Given the description of an element on the screen output the (x, y) to click on. 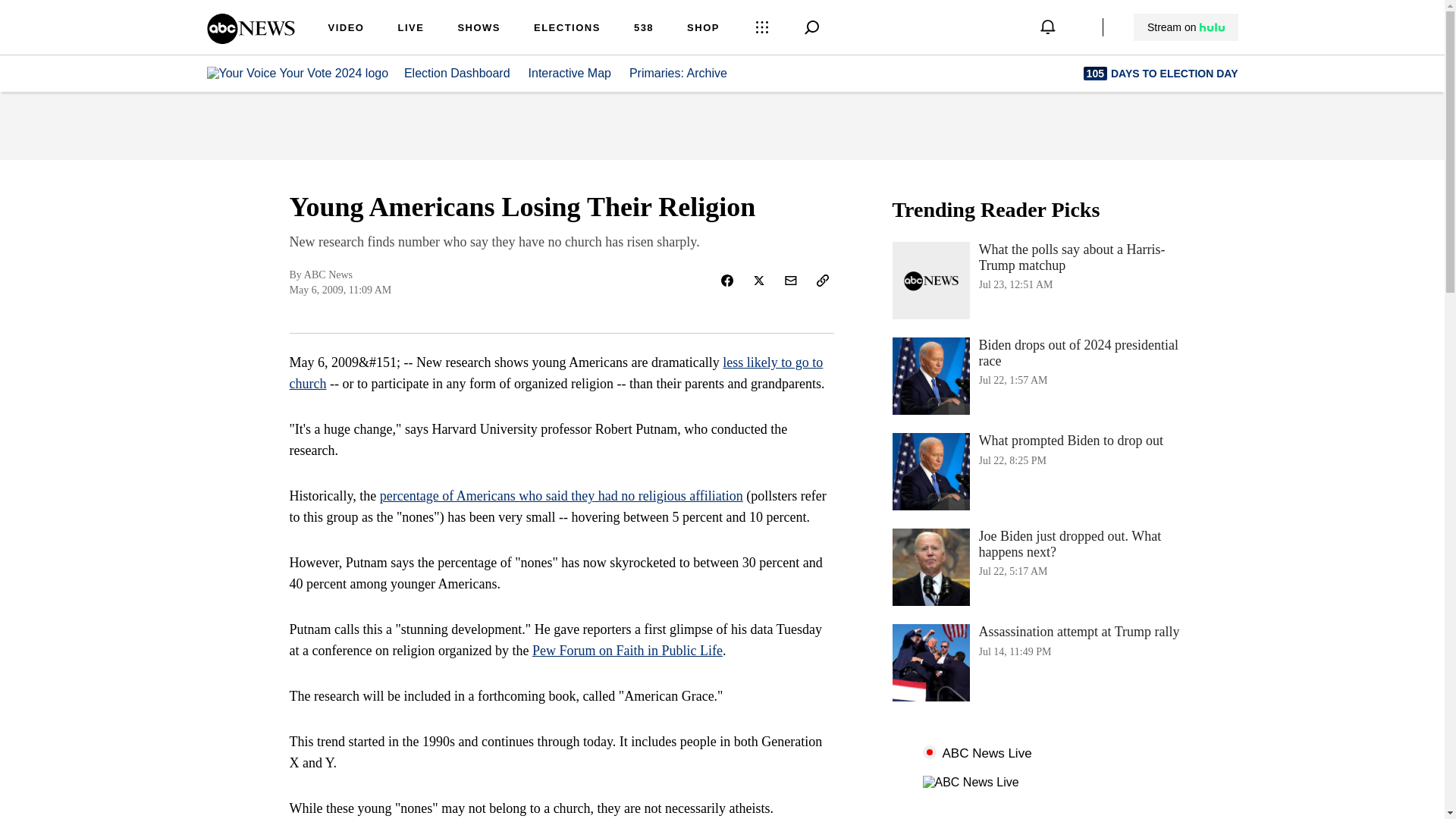
538 (643, 28)
Pew Forum on Faith in Public Life (627, 650)
Stream on (1185, 27)
Interactive Map (569, 73)
Primaries: Archive (686, 73)
less likely to go to church (556, 372)
ABC News (250, 38)
ELECTIONS (566, 28)
Stream on (1043, 471)
Election Dashboard (1186, 26)
LIVE (457, 73)
